Given the description of an element on the screen output the (x, y) to click on. 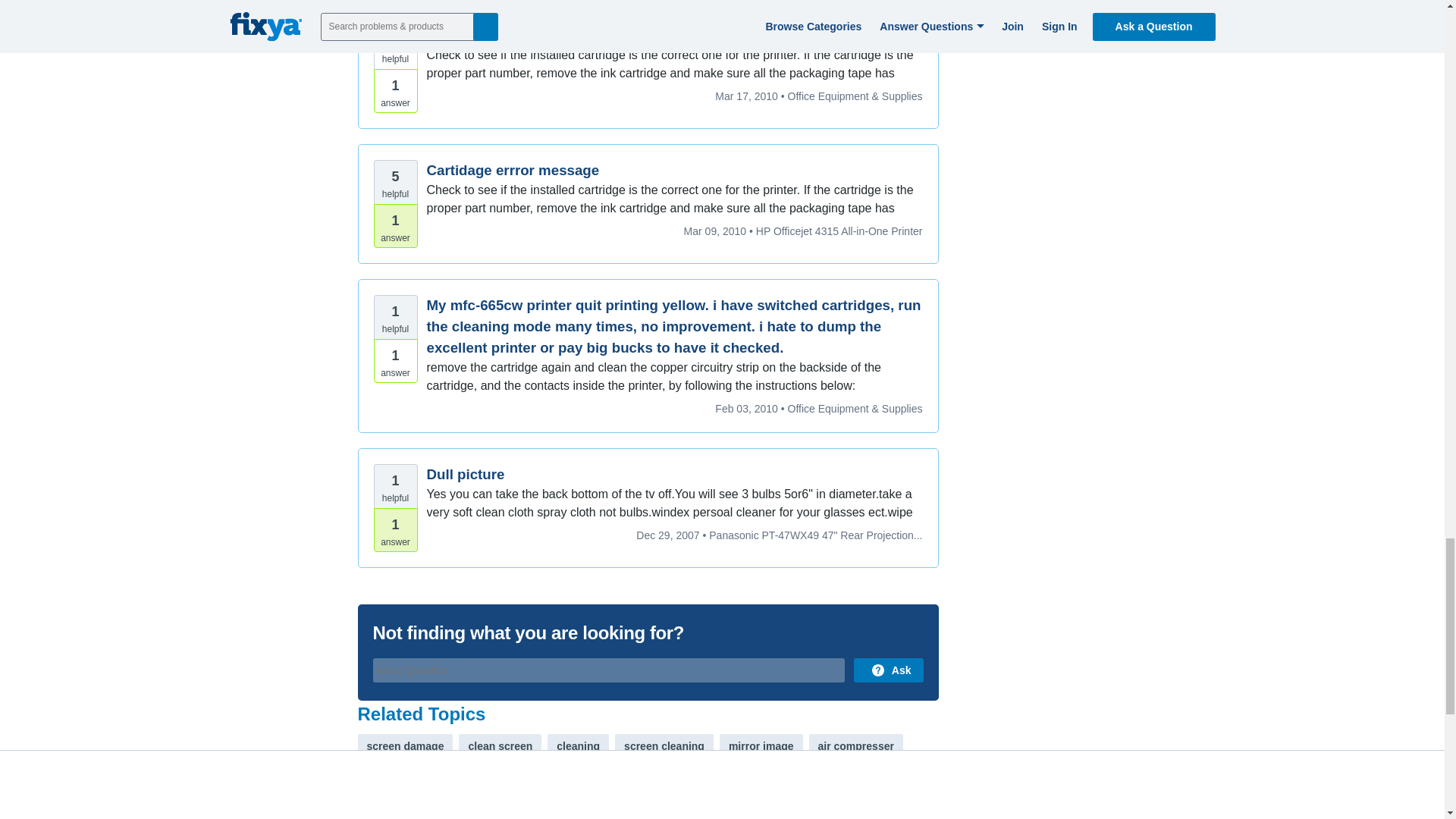
Ask (888, 670)
